Given the description of an element on the screen output the (x, y) to click on. 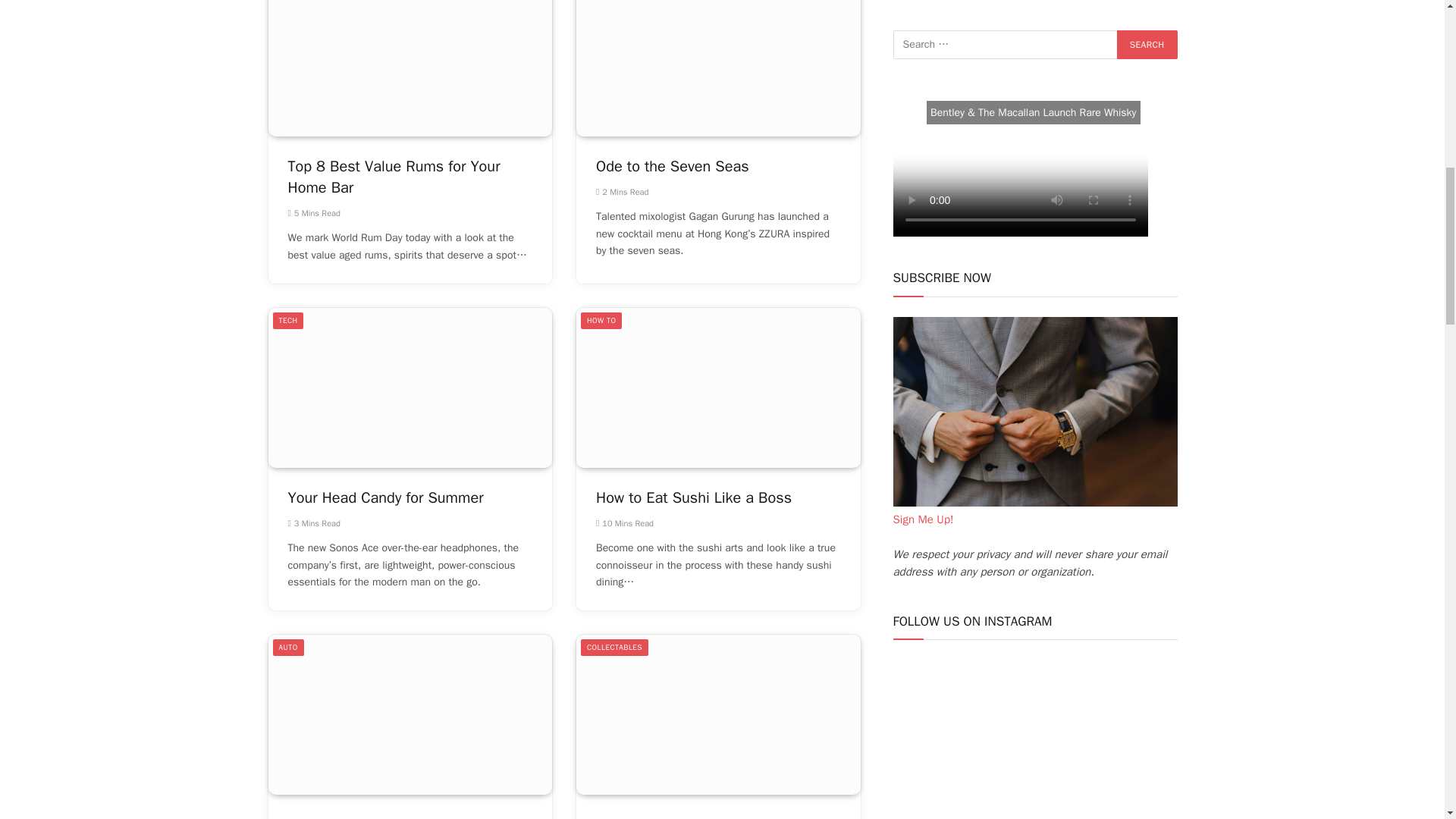
Your Head Candy for Summer (410, 387)
Top 8 Best Value Rums for Your Home Bar (410, 68)
How to Eat Sushi Like a Boss (718, 387)
Blue on Black (718, 714)
The Bugatti Tourbillon Makes Time Stand Still (410, 714)
Ode to the Seven Seas (718, 68)
